Given the description of an element on the screen output the (x, y) to click on. 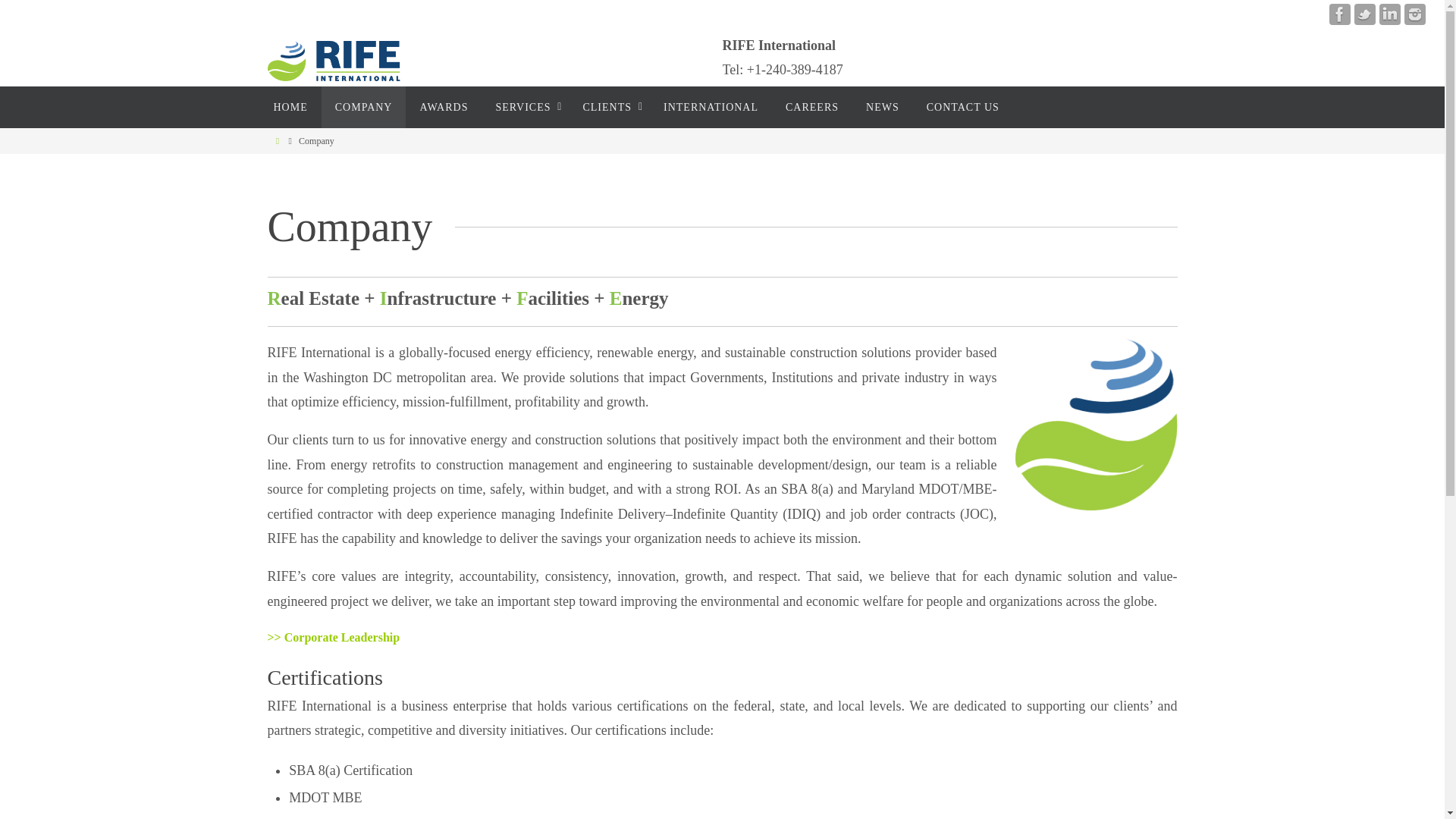
CONTACT US (962, 106)
AWARDS (443, 106)
Facebook (1340, 14)
HOME (289, 106)
RIFE International (332, 60)
NEWS (881, 106)
SERVICES (525, 106)
LinkedIn (1389, 14)
COMPANY (363, 106)
CLIENTS (609, 106)
